Given the description of an element on the screen output the (x, y) to click on. 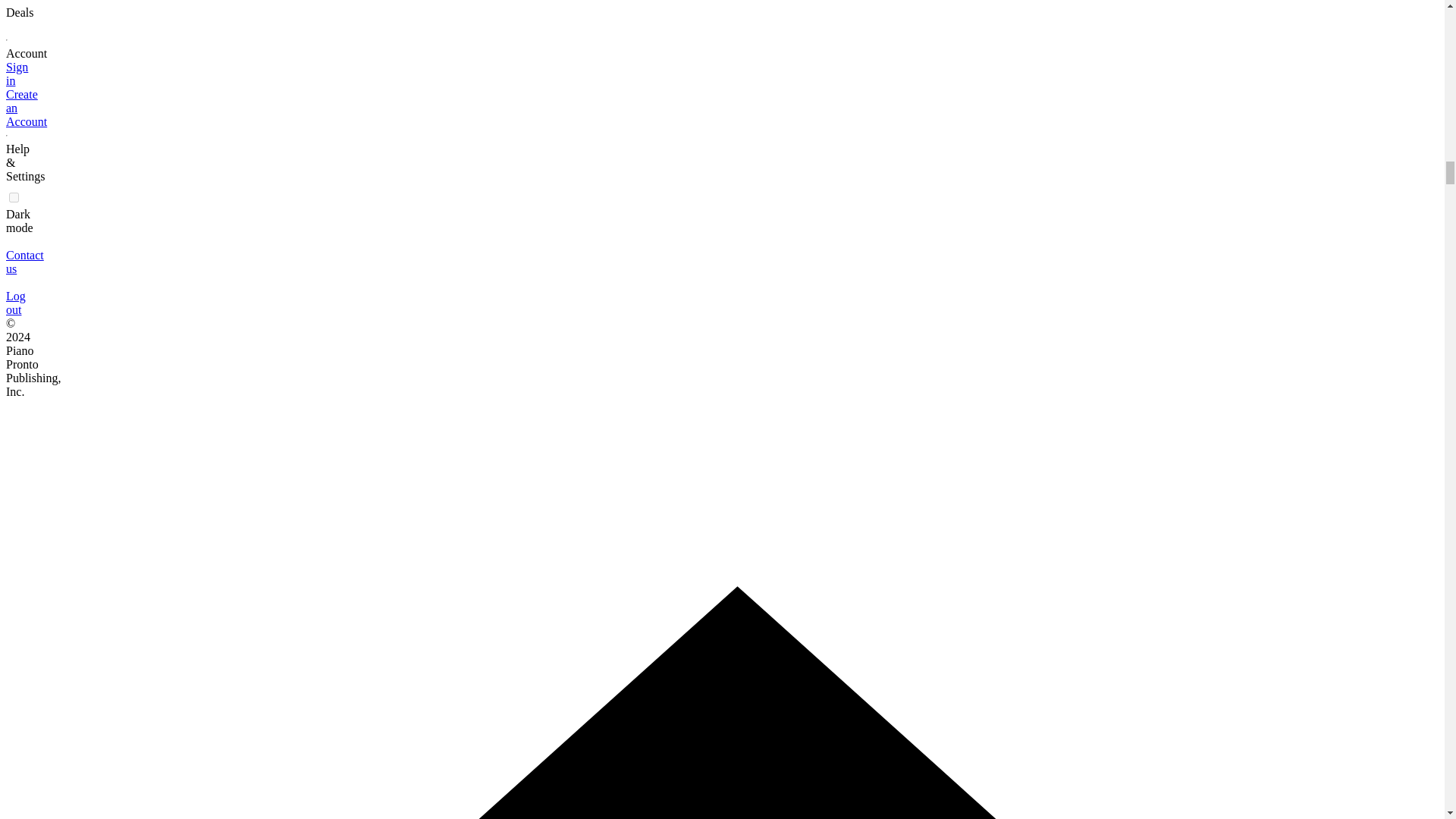
on (13, 197)
